Given the description of an element on the screen output the (x, y) to click on. 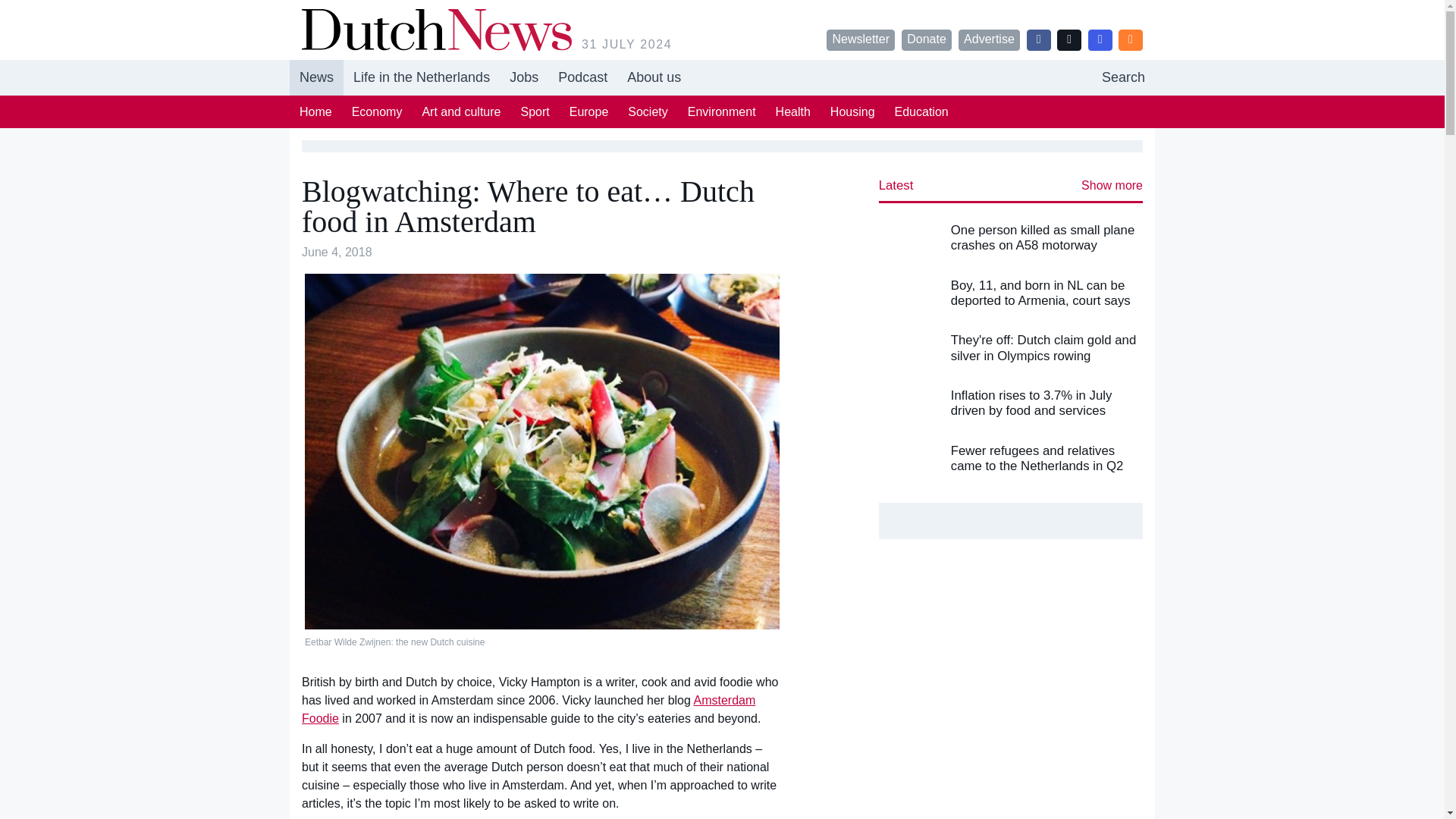
Economy (377, 111)
Podcast (582, 77)
Art and culture (461, 111)
Europe (721, 77)
Search (588, 111)
Housing (1123, 77)
Advertise (853, 111)
About us (989, 39)
hidden-in-footer (653, 77)
hidden-in-footer (523, 77)
News (582, 77)
Society (316, 77)
Newsletter (647, 111)
